Given the description of an element on the screen output the (x, y) to click on. 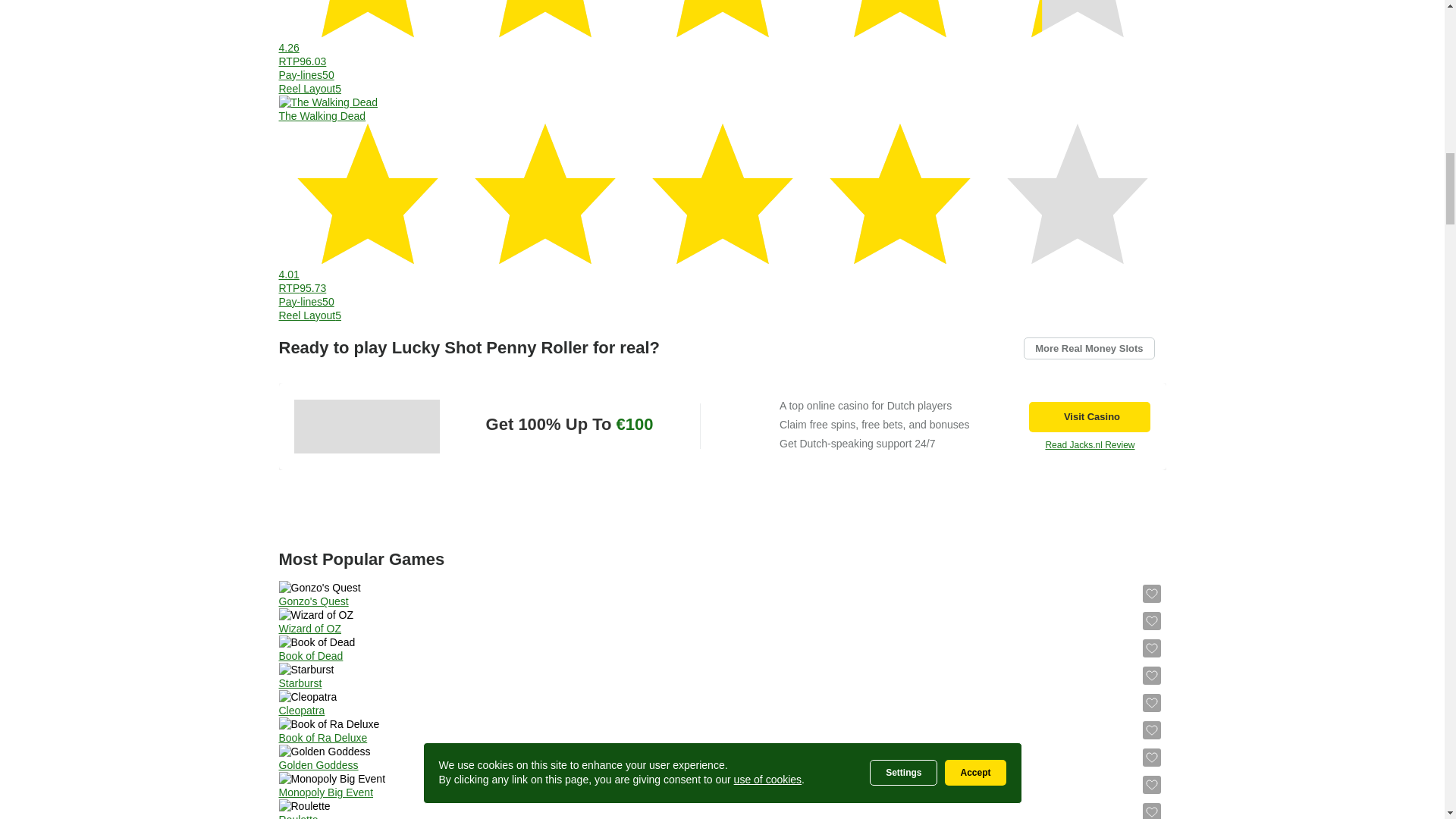
Gonzo's Quest (314, 601)
Book of Ra Deluxe (323, 737)
Book of Dead (311, 655)
Starburst (300, 683)
Cleopatra (301, 710)
Wizard of OZ (309, 628)
